Given the description of an element on the screen output the (x, y) to click on. 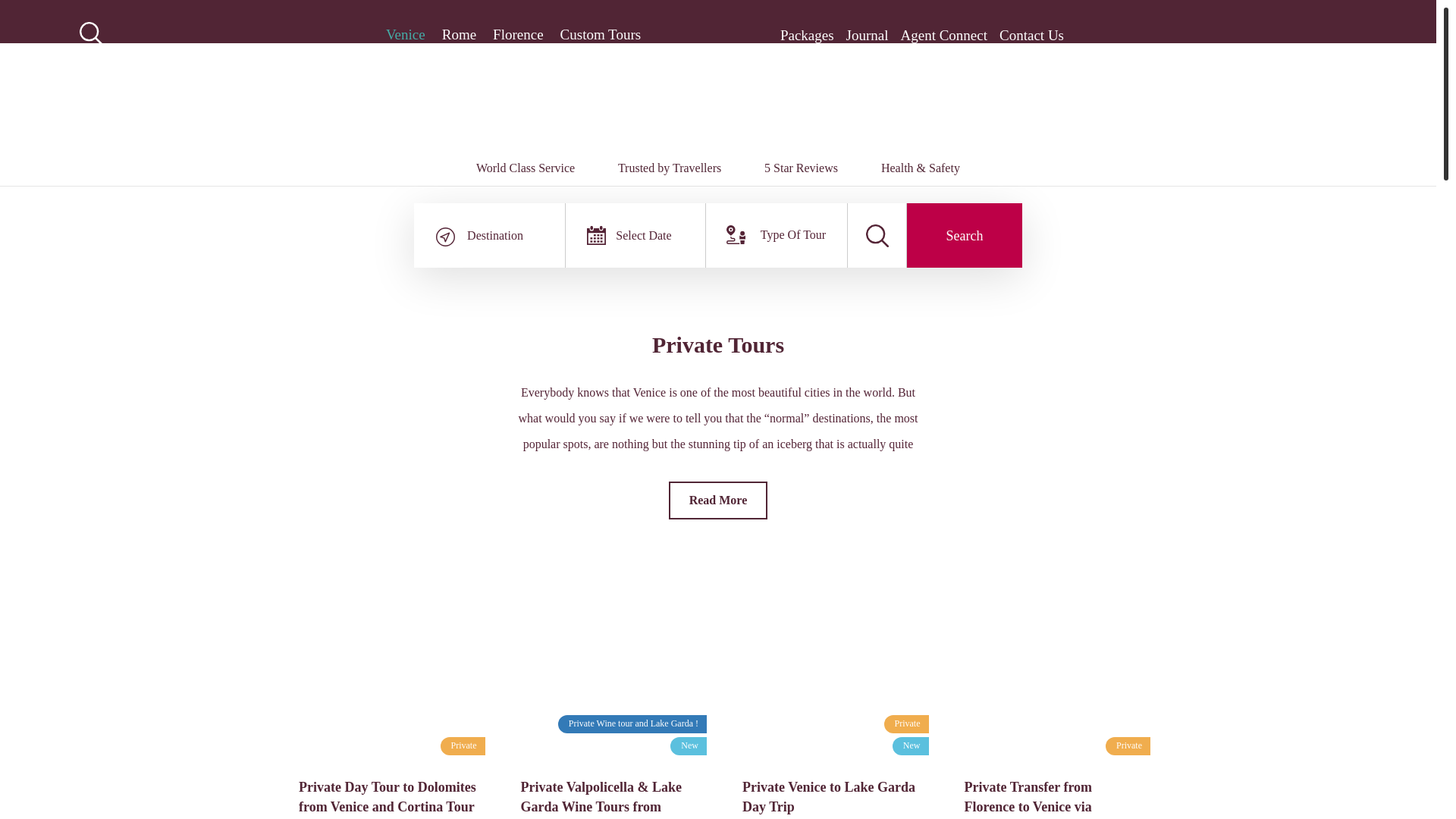
Venice (405, 34)
Packages (807, 35)
Rome (459, 34)
Journal (866, 35)
Florence (518, 34)
Agent Connect (944, 35)
Custom Tours (601, 34)
Contact Us (1031, 35)
